Given the description of an element on the screen output the (x, y) to click on. 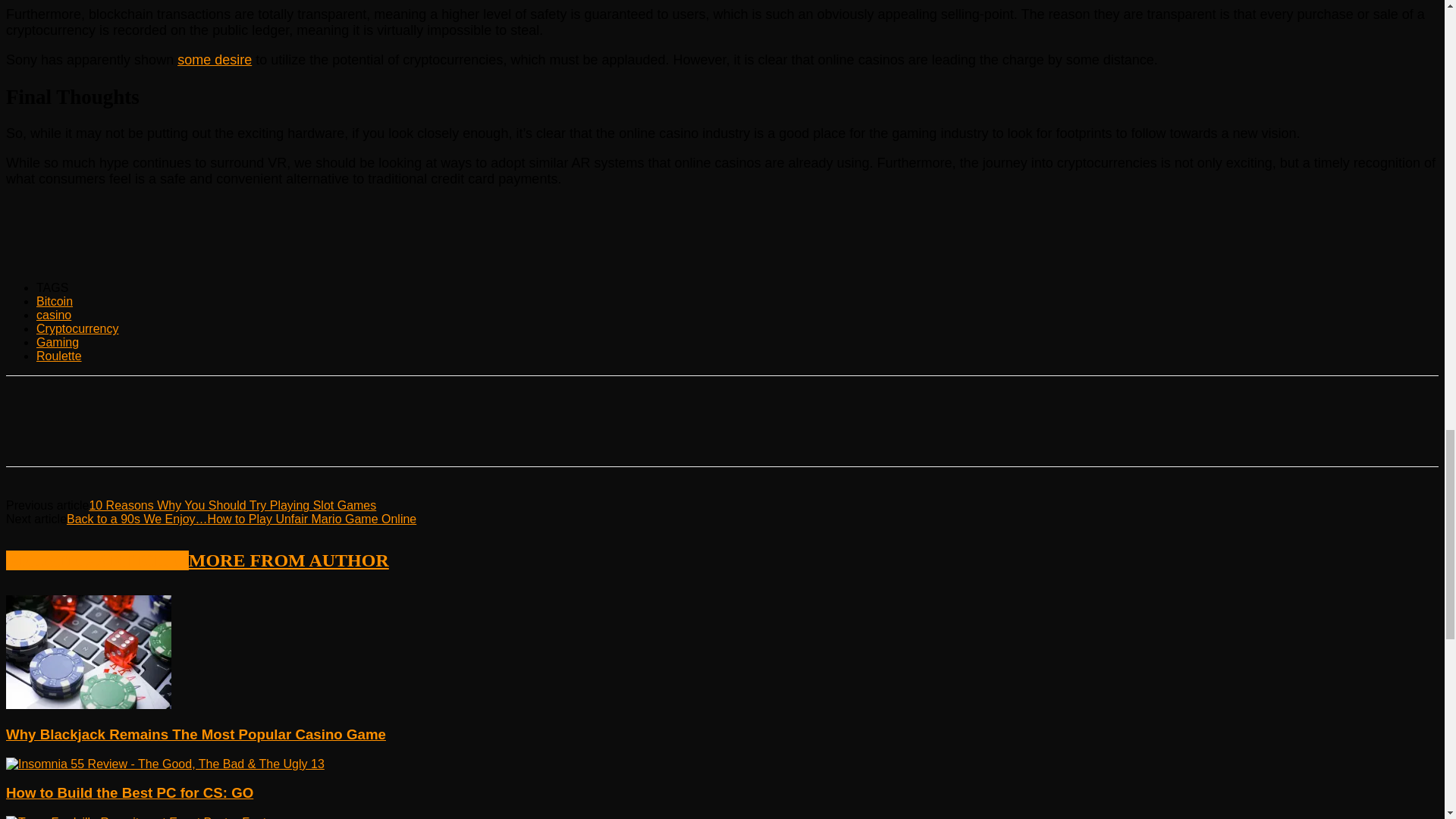
bottomFacebookLike (118, 399)
Why Blackjack Remains The Most Popular Casino Game (195, 734)
Why Blackjack Remains The Most Popular Casino Game (88, 704)
Why Blackjack Remains The Most Popular Casino Game (88, 652)
